Given the description of an element on the screen output the (x, y) to click on. 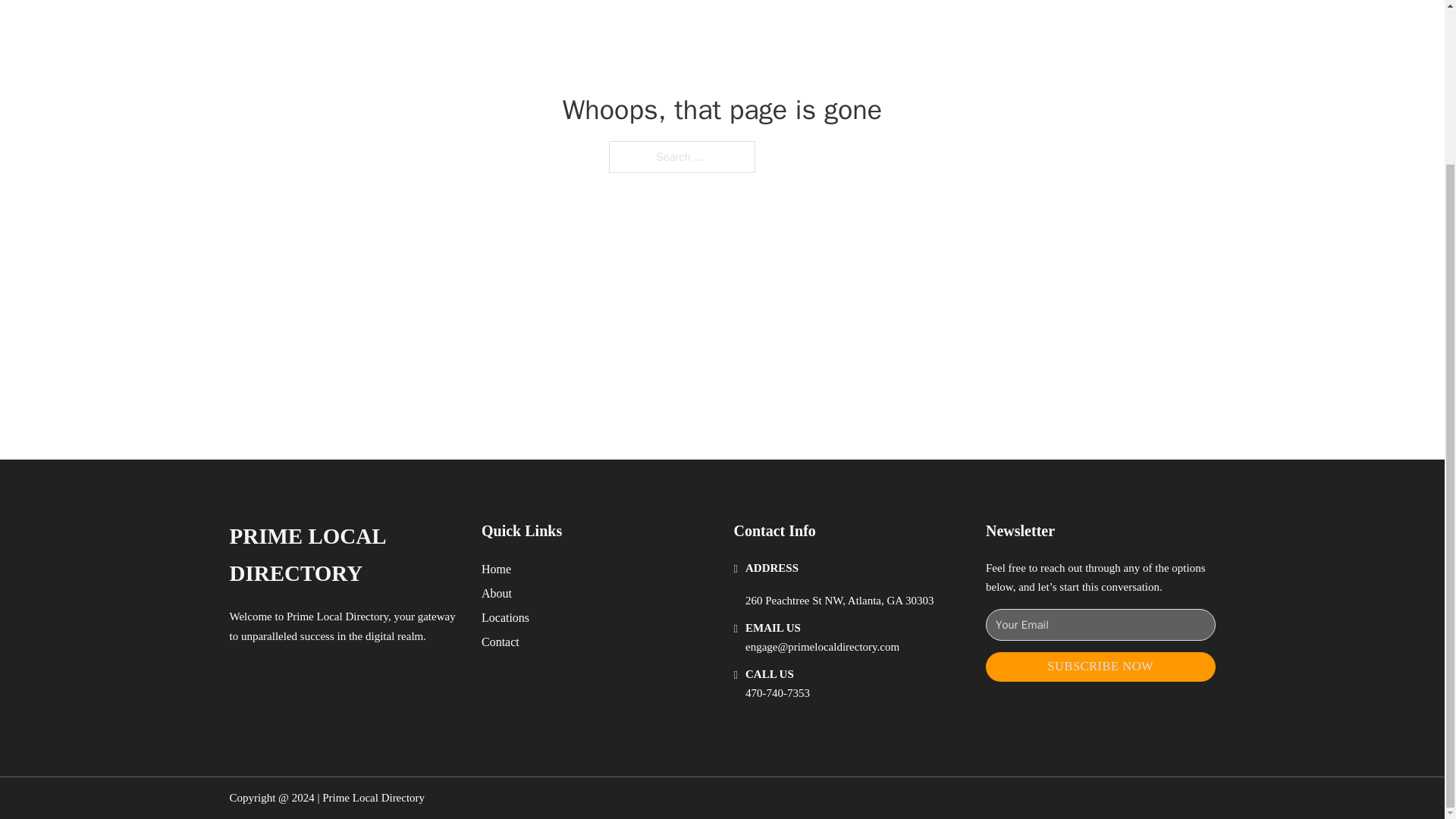
Contact (500, 641)
470-740-7353 (777, 693)
About (496, 593)
Locations (505, 617)
PRIME LOCAL DIRECTORY (343, 554)
Home (496, 568)
SUBSCRIBE NOW (1100, 666)
